Given the description of an element on the screen output the (x, y) to click on. 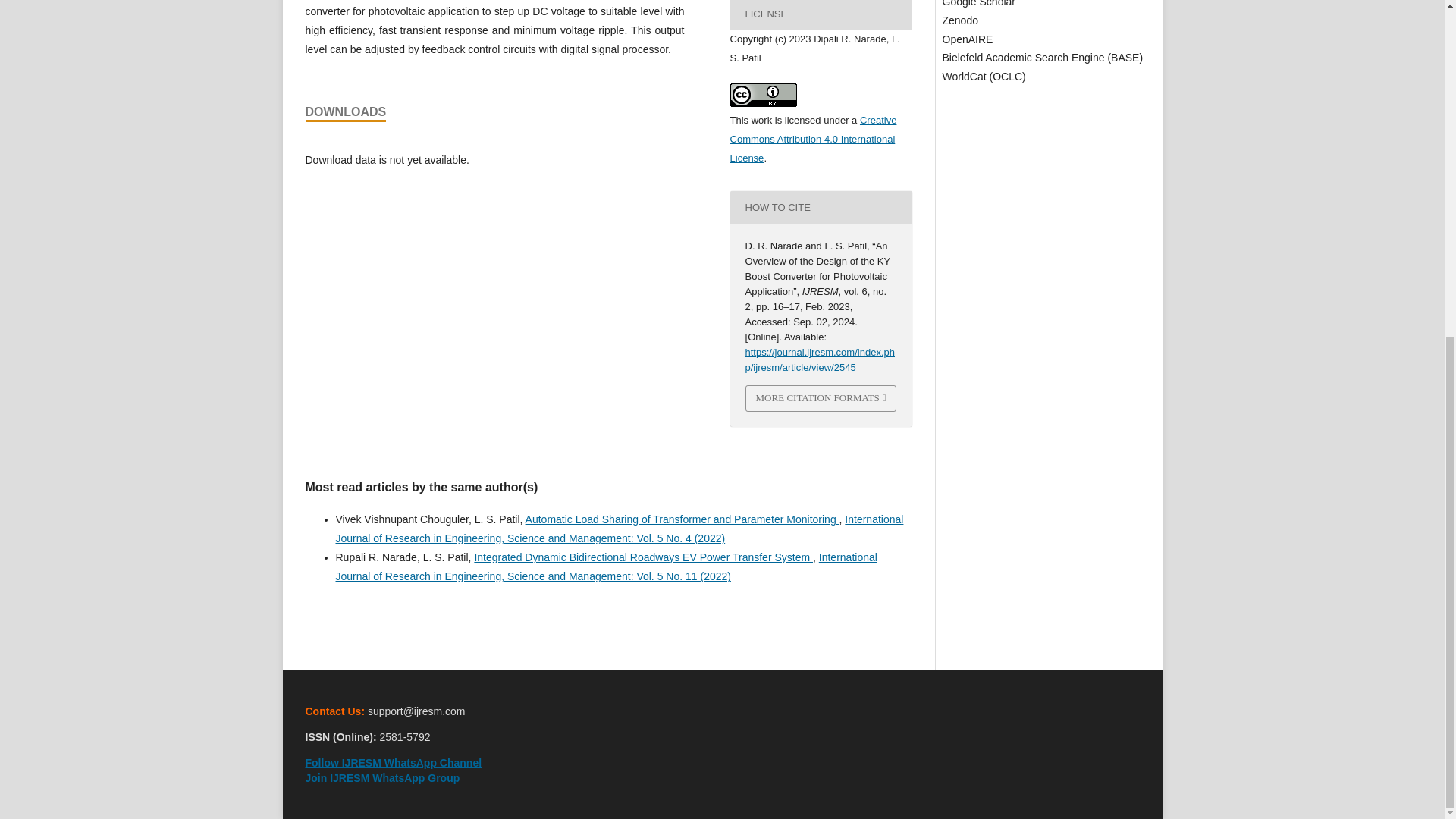
MORE CITATION FORMATS (820, 398)
Creative Commons Attribution 4.0 International License (812, 138)
